Given the description of an element on the screen output the (x, y) to click on. 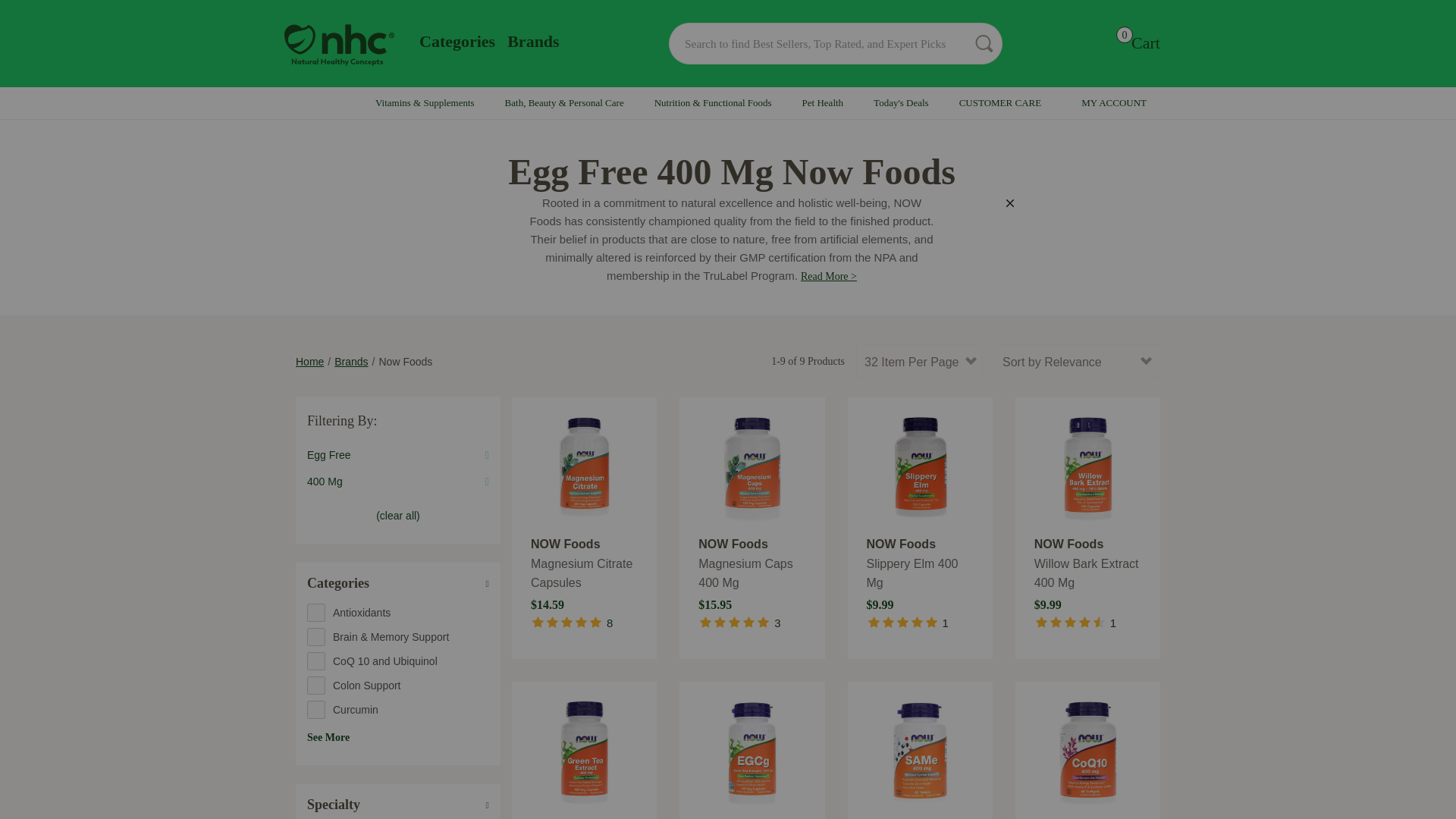
MY ACCOUNT (1118, 102)
Brands (351, 361)
Specialty (398, 804)
on (315, 660)
Now Foods (405, 361)
CUSTOMER CARE (1004, 102)
Curcumin (398, 709)
CoQ 10 and Ubiquinol (398, 661)
Today'S Deals (901, 102)
Egg Free (398, 437)
Categories (398, 583)
NHC SCA (338, 44)
on (315, 612)
Categories (456, 41)
400 Mg (398, 481)
